Given the description of an element on the screen output the (x, y) to click on. 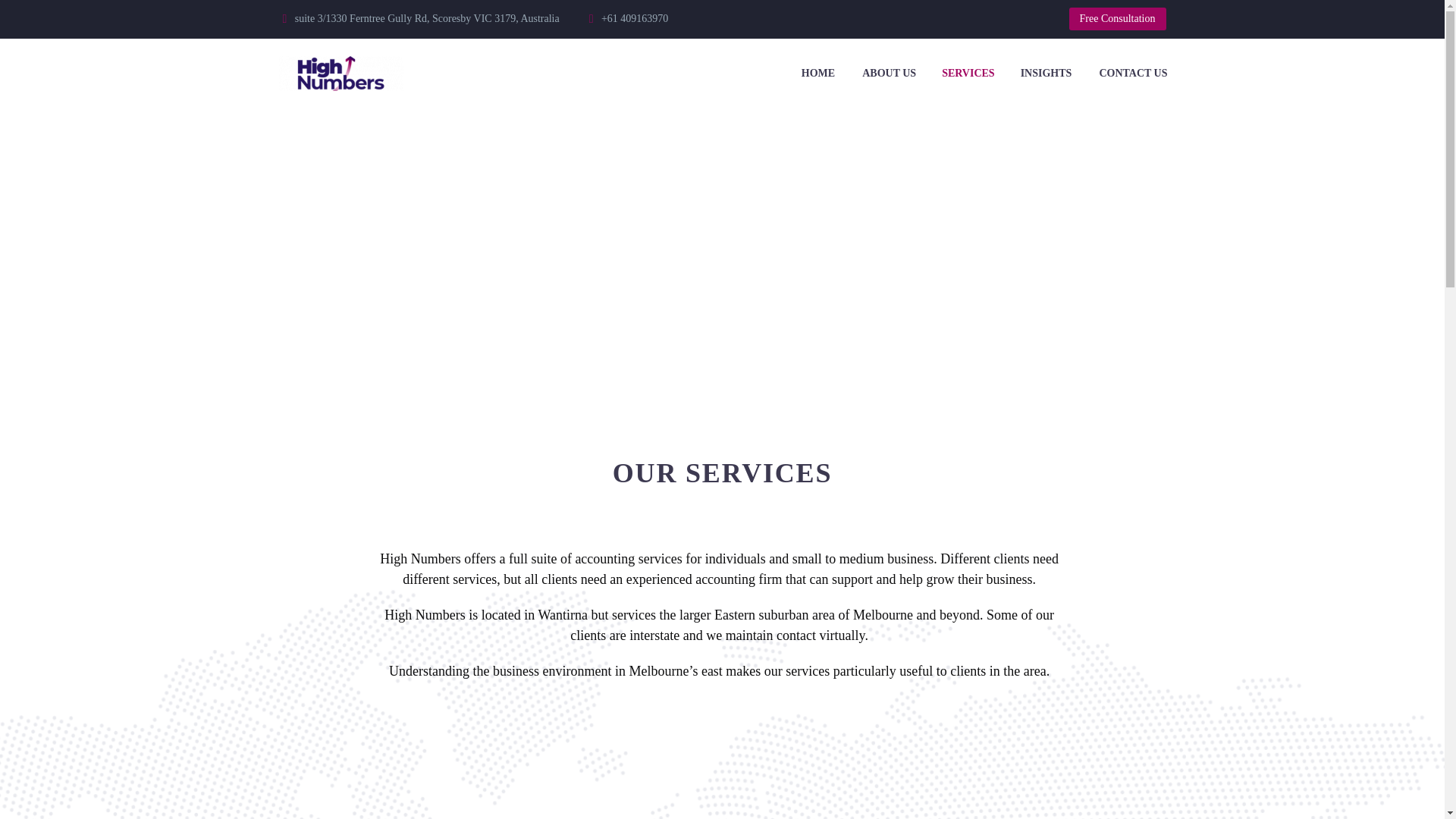
Free Consultation (1117, 18)
SERVICES (968, 72)
ABOUT US (888, 72)
HOME (817, 72)
CONTACT US (1132, 72)
INSIGHTS (1046, 72)
